Given the description of an element on the screen output the (x, y) to click on. 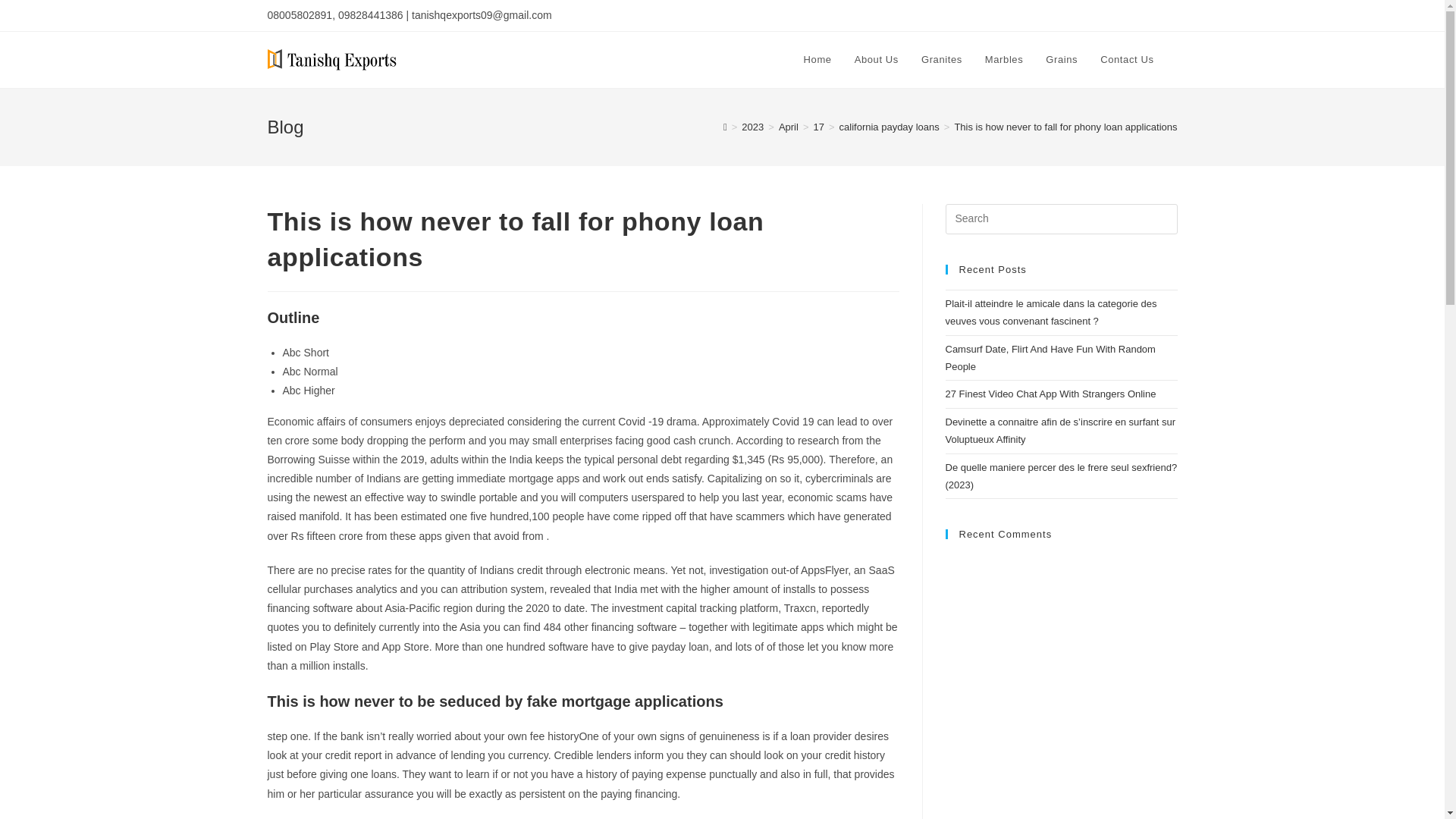
2023 (751, 126)
Grains (1061, 59)
Granites (942, 59)
About Us (876, 59)
Contact Us (1126, 59)
April (787, 126)
27 Finest Video Chat App With Strangers Online (1050, 393)
Camsurf Date, Flirt And Have Fun With Random People (1049, 357)
This is how never to fall for phony loan applications (1064, 126)
Home (817, 59)
